Given the description of an element on the screen output the (x, y) to click on. 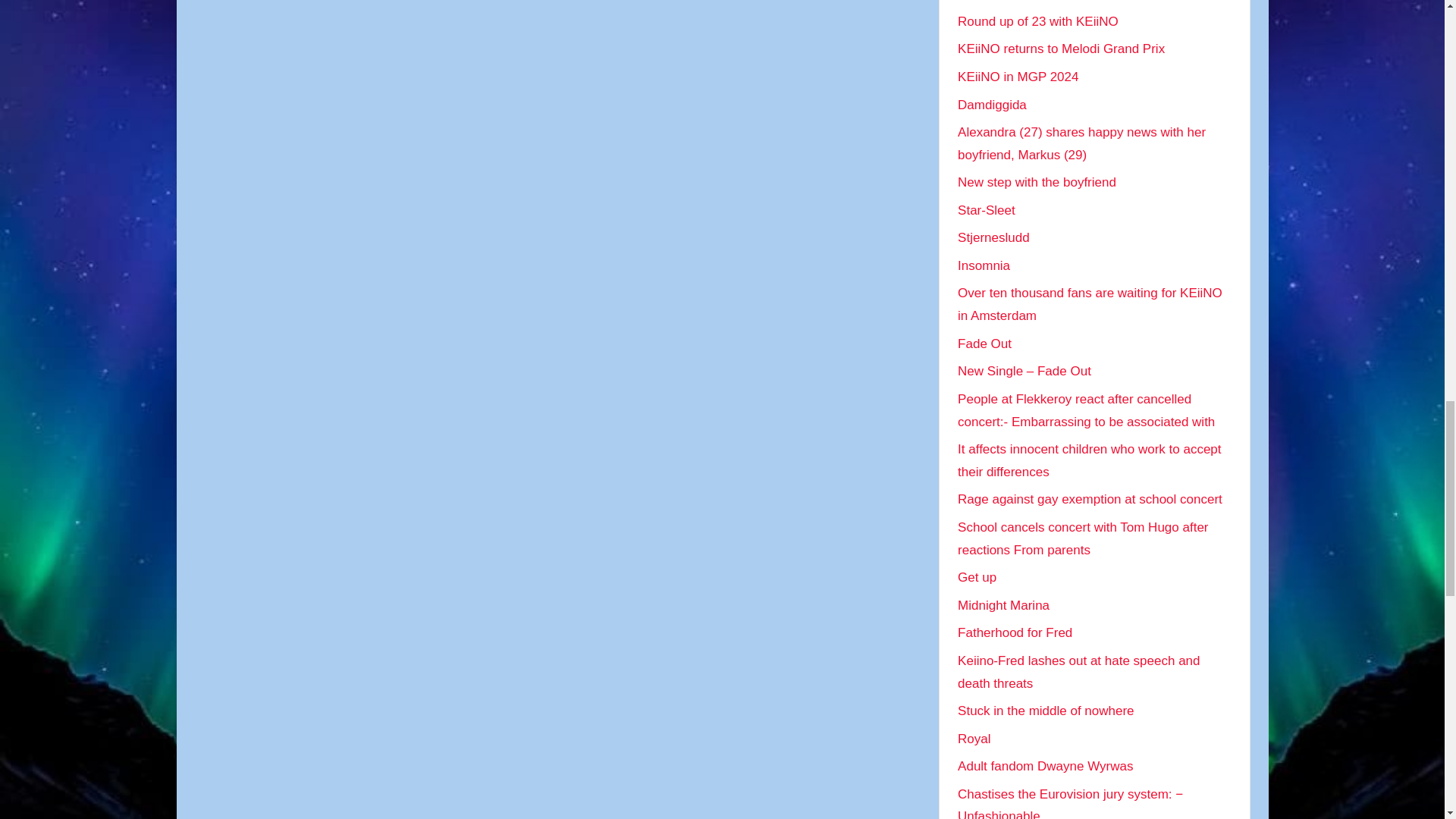
Round up of 23 with KEiiNO (1038, 21)
Stjernesludd (993, 237)
KEiiNO returns to Melodi Grand Prix (1061, 48)
Fade Out (984, 343)
New step with the boyfriend (1037, 182)
Damdiggida (992, 104)
Over ten thousand fans are waiting for KEiiNO in Amsterdam (1090, 303)
KEiiNO in MGP 2024 (1018, 76)
Star-Sleet (986, 210)
Insomnia (984, 265)
Hero, Baby (990, 0)
